Given the description of an element on the screen output the (x, y) to click on. 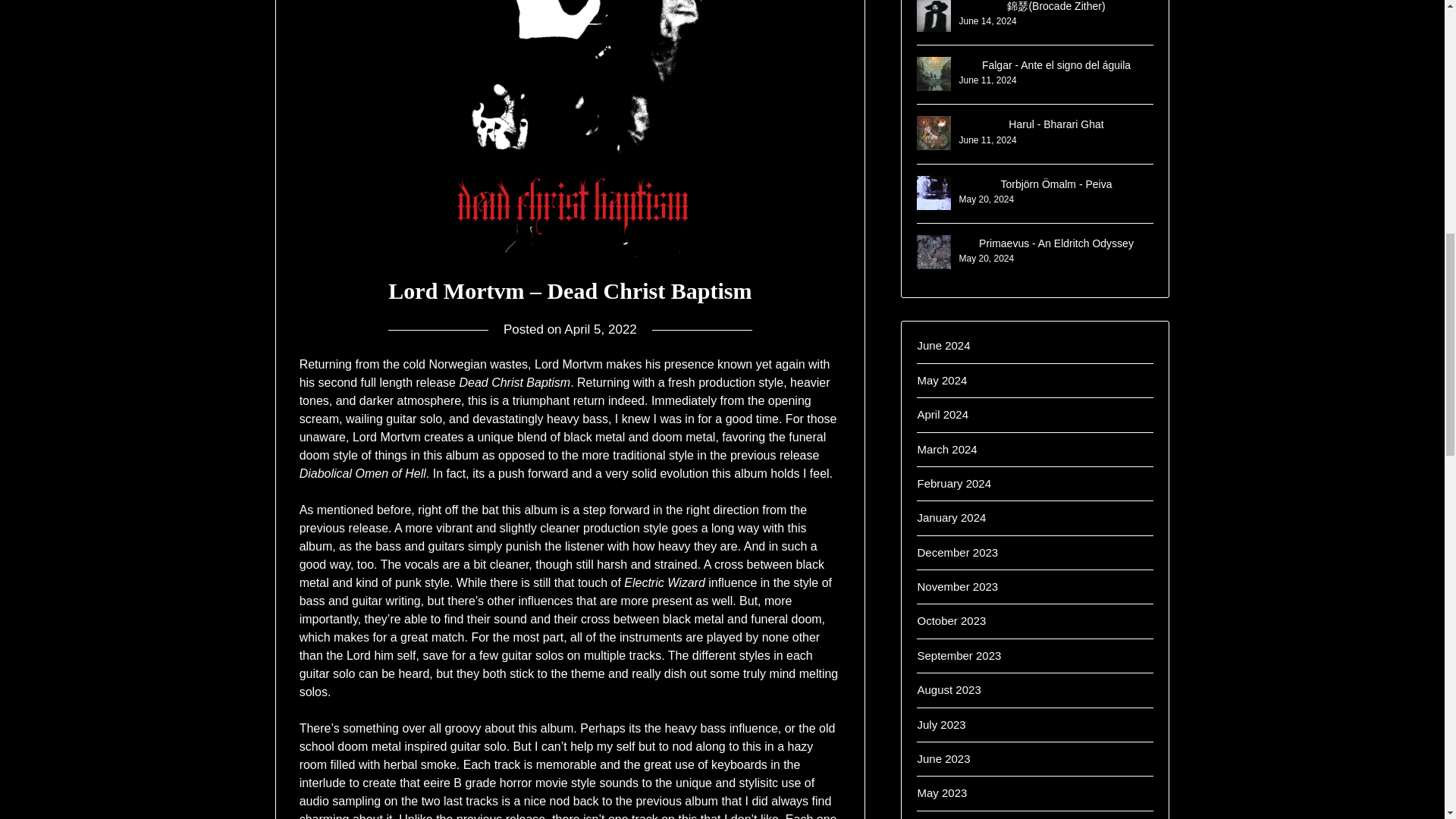
July 2023 (941, 724)
Permalink to Harul - Bharari Ghat (1056, 123)
September 2023 (959, 655)
April 5, 2022 (600, 329)
October 2023 (951, 620)
December 2023 (957, 552)
Harul - Bharari Ghat (1056, 123)
January 2024 (951, 517)
February 2024 (954, 482)
August 2023 (948, 689)
June 2024 (943, 345)
Primaevus - An Eldritch Odyssey (1056, 243)
May 2024 (941, 379)
March 2024 (946, 449)
April 2024 (942, 413)
